Given the description of an element on the screen output the (x, y) to click on. 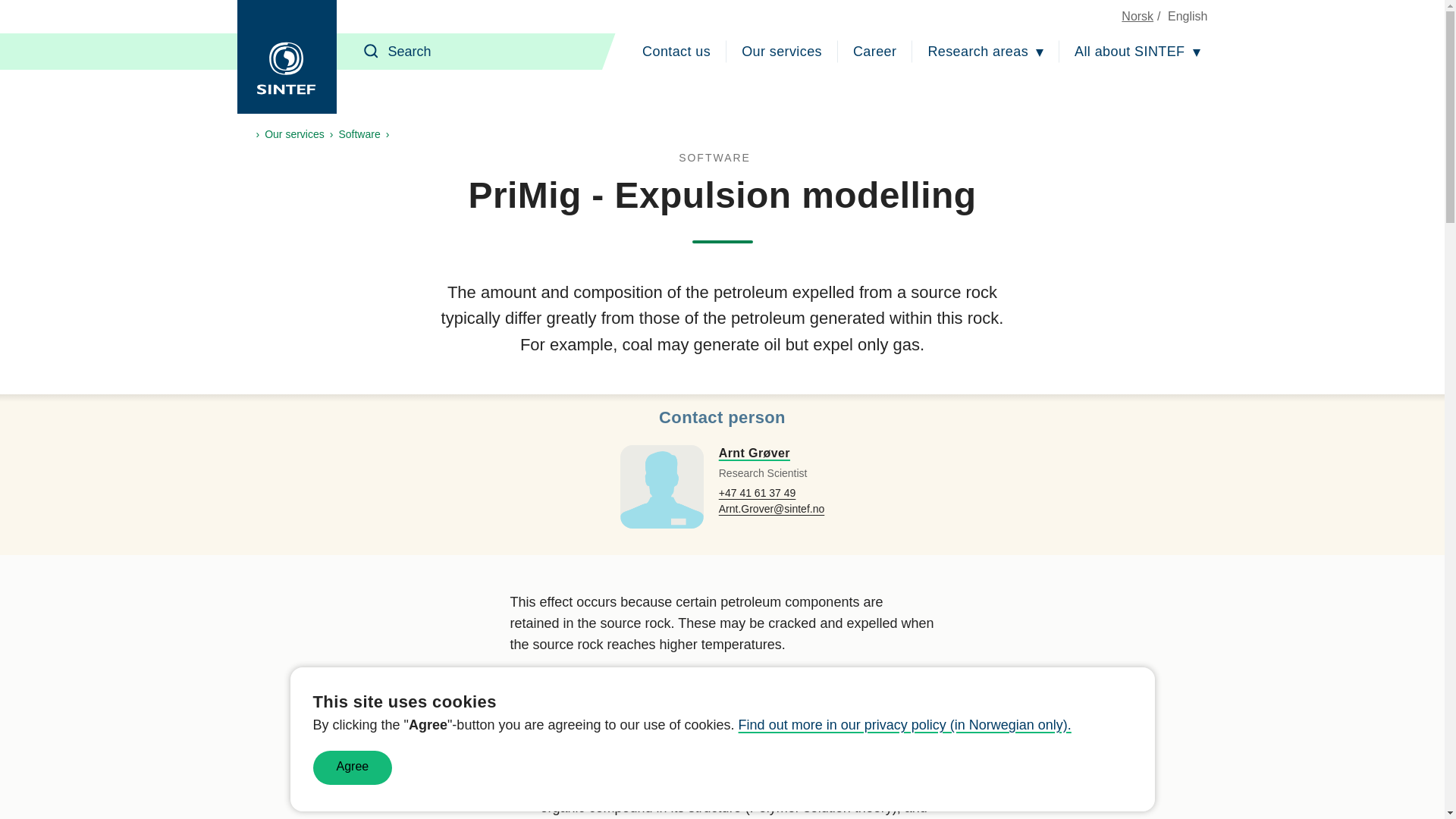
Career (874, 51)
All software (721, 157)
Contact us (675, 51)
Our services (781, 51)
Norsk (1137, 16)
All about SINTEF (1137, 51)
Research areas (985, 51)
